Given the description of an element on the screen output the (x, y) to click on. 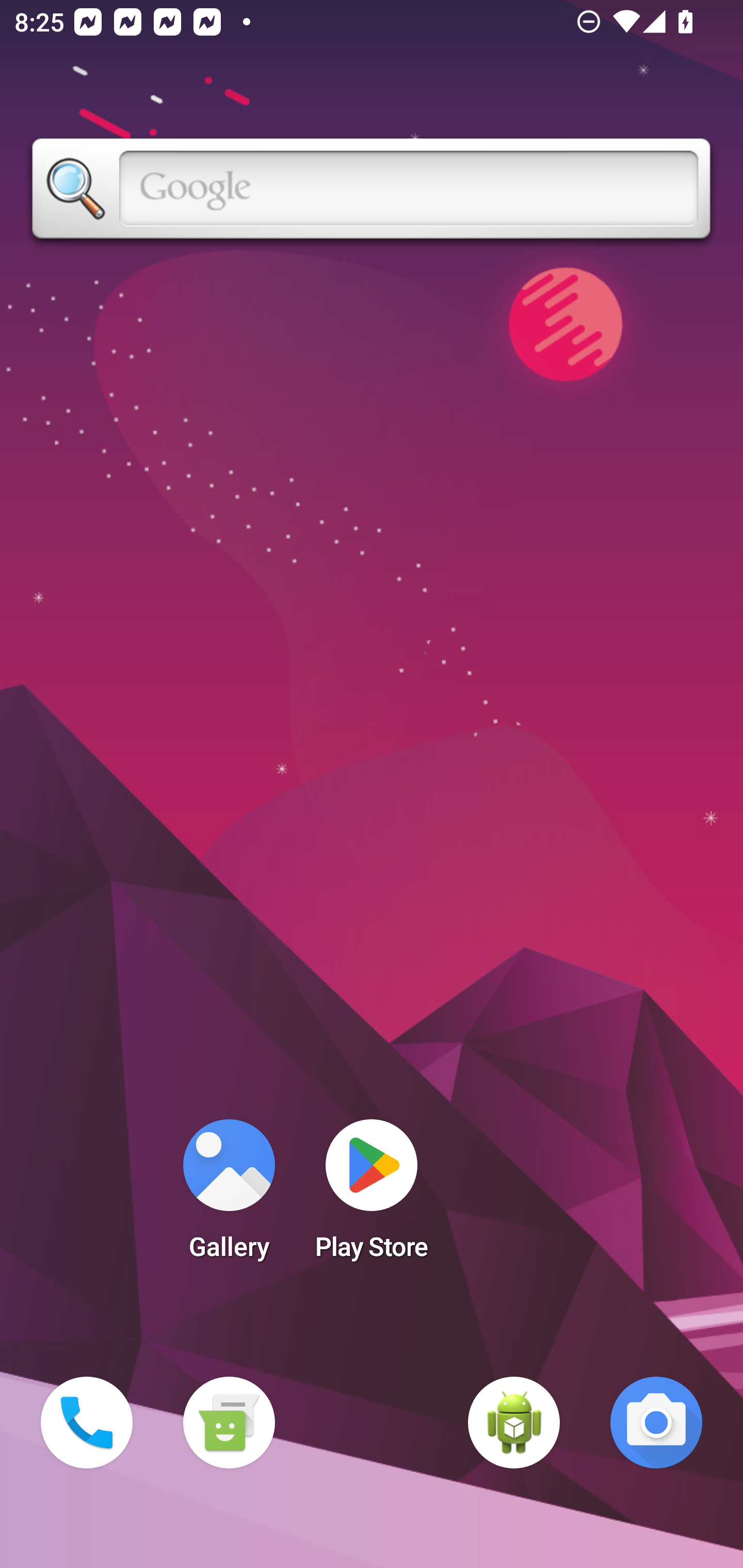
Gallery (228, 1195)
Play Store (371, 1195)
Phone (86, 1422)
Messaging (228, 1422)
WebView Browser Tester (513, 1422)
Camera (656, 1422)
